Given the description of an element on the screen output the (x, y) to click on. 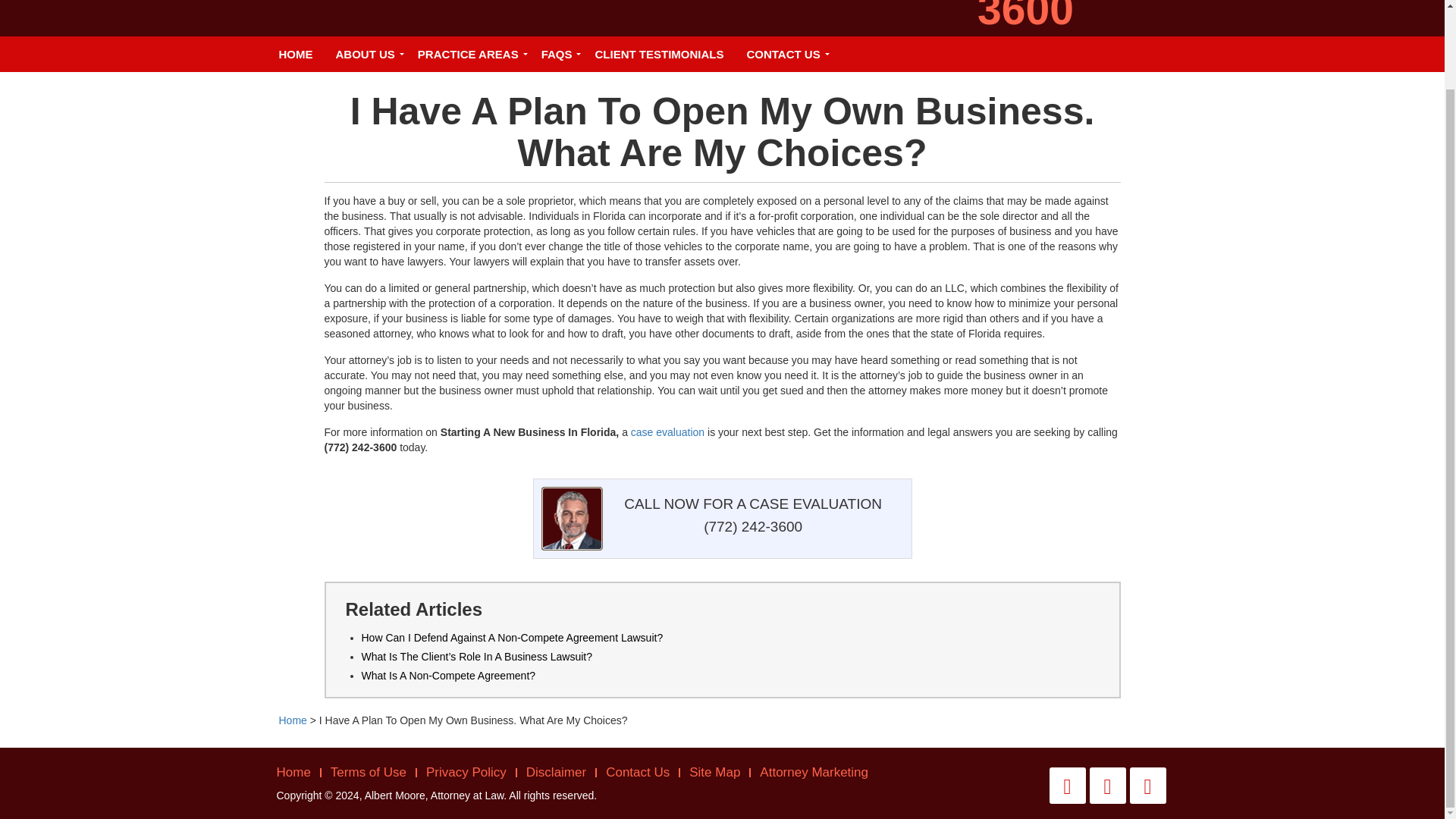
Disclaimer (555, 771)
Attorney Marketing (814, 771)
Home (292, 771)
PRACTICE AREAS (467, 54)
Go to Albert Moore, Attorney at Law. (293, 720)
Home (293, 720)
Site Map (714, 771)
FAQS (556, 54)
Contact Us (637, 771)
CONTACT US (783, 54)
How Can I Defend Against A Non-Compete Agreement Lawsuit? (511, 637)
Privacy Policy (465, 771)
Terms of Use (367, 771)
HOME (294, 54)
What Is A Non-Compete Agreement? (448, 675)
